Given the description of an element on the screen output the (x, y) to click on. 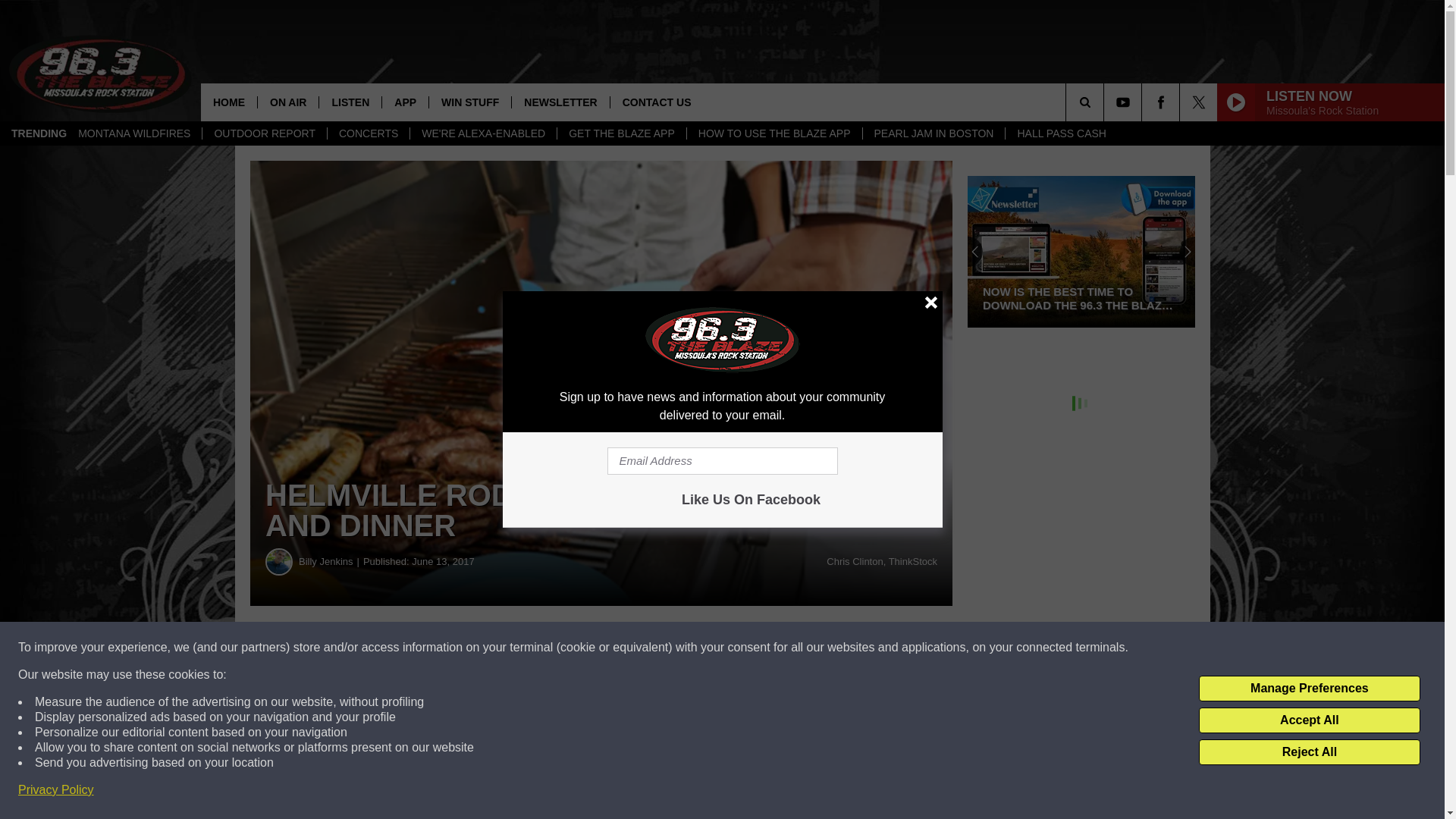
MONTANA WILDFIRES (134, 133)
Privacy Policy (55, 789)
SEARCH (1106, 102)
OUTDOOR REPORT (264, 133)
HALL PASS CASH (1061, 133)
NEWSLETTER (559, 102)
ON AIR (287, 102)
CONCERTS (367, 133)
LISTEN (349, 102)
Share on Twitter (741, 647)
PEARL JAM IN BOSTON (933, 133)
Accept All (1309, 720)
WE'RE ALEXA-ENABLED (482, 133)
Share on Facebook (460, 647)
GET THE BLAZE APP (620, 133)
